Given the description of an element on the screen output the (x, y) to click on. 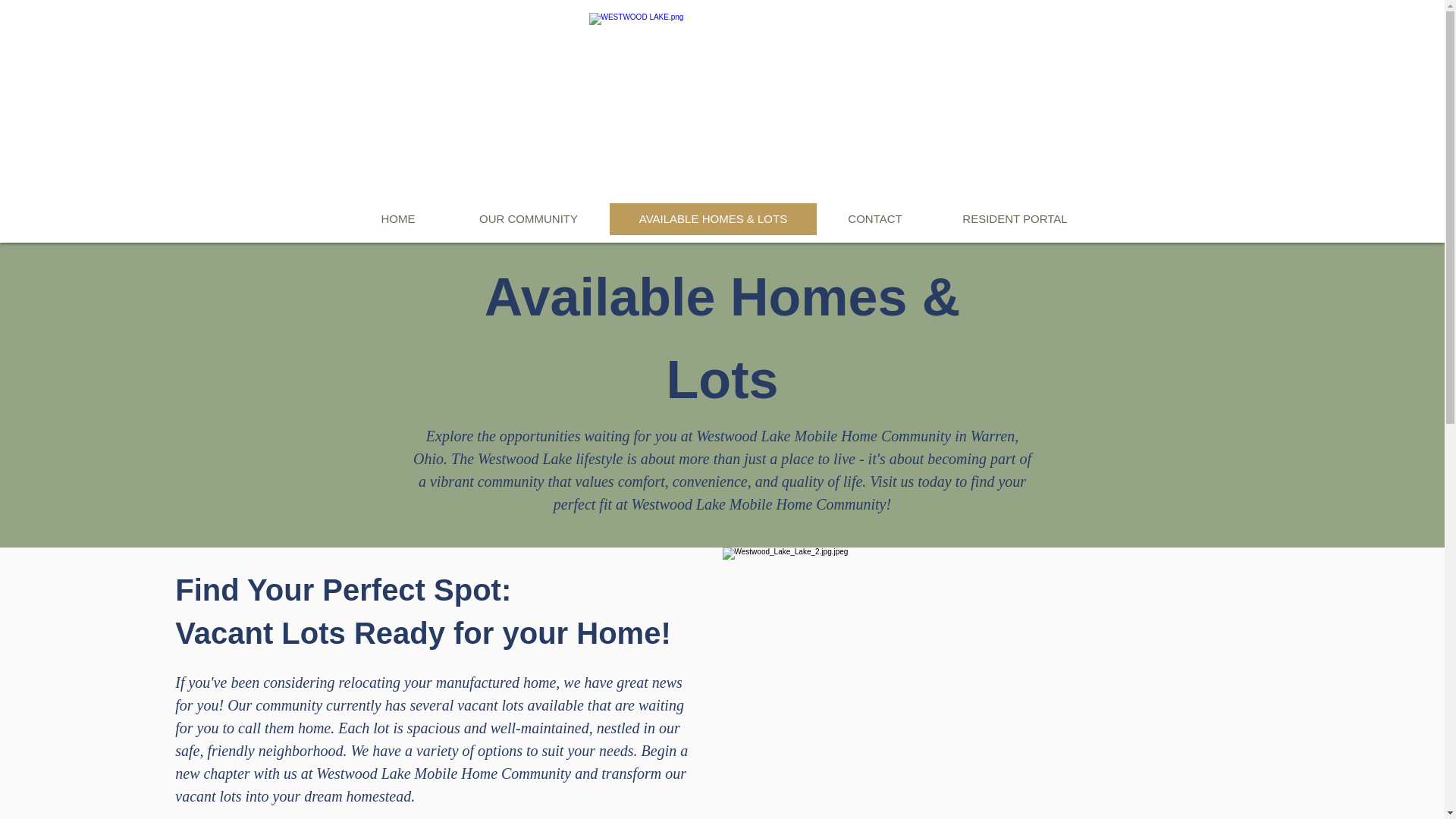
CONTACT (874, 219)
HOME (397, 219)
RESIDENT PORTAL (1014, 219)
OUR COMMUNITY (528, 219)
